Given the description of an element on the screen output the (x, y) to click on. 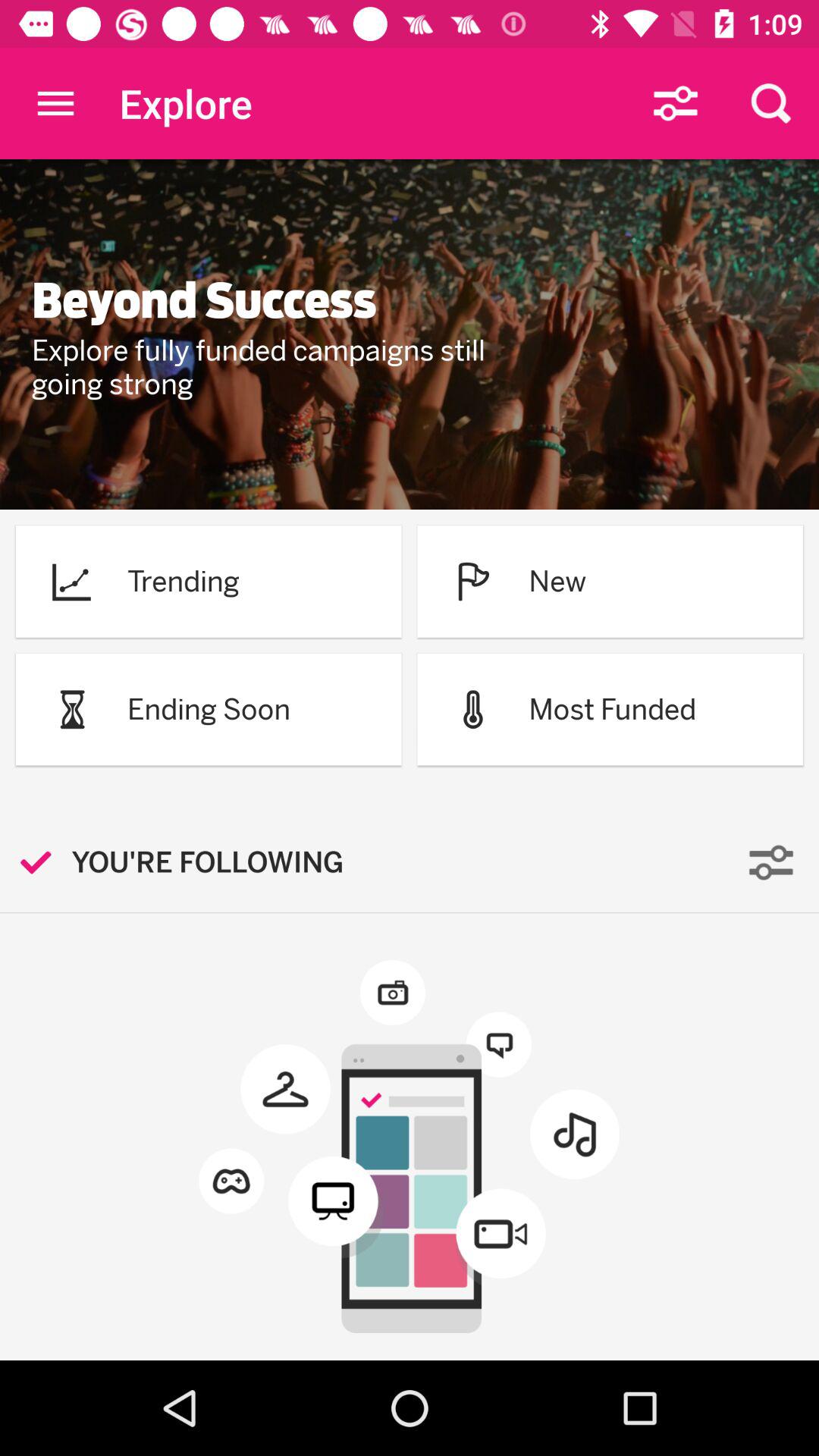
turn off ending soon (208, 709)
